Given the description of an element on the screen output the (x, y) to click on. 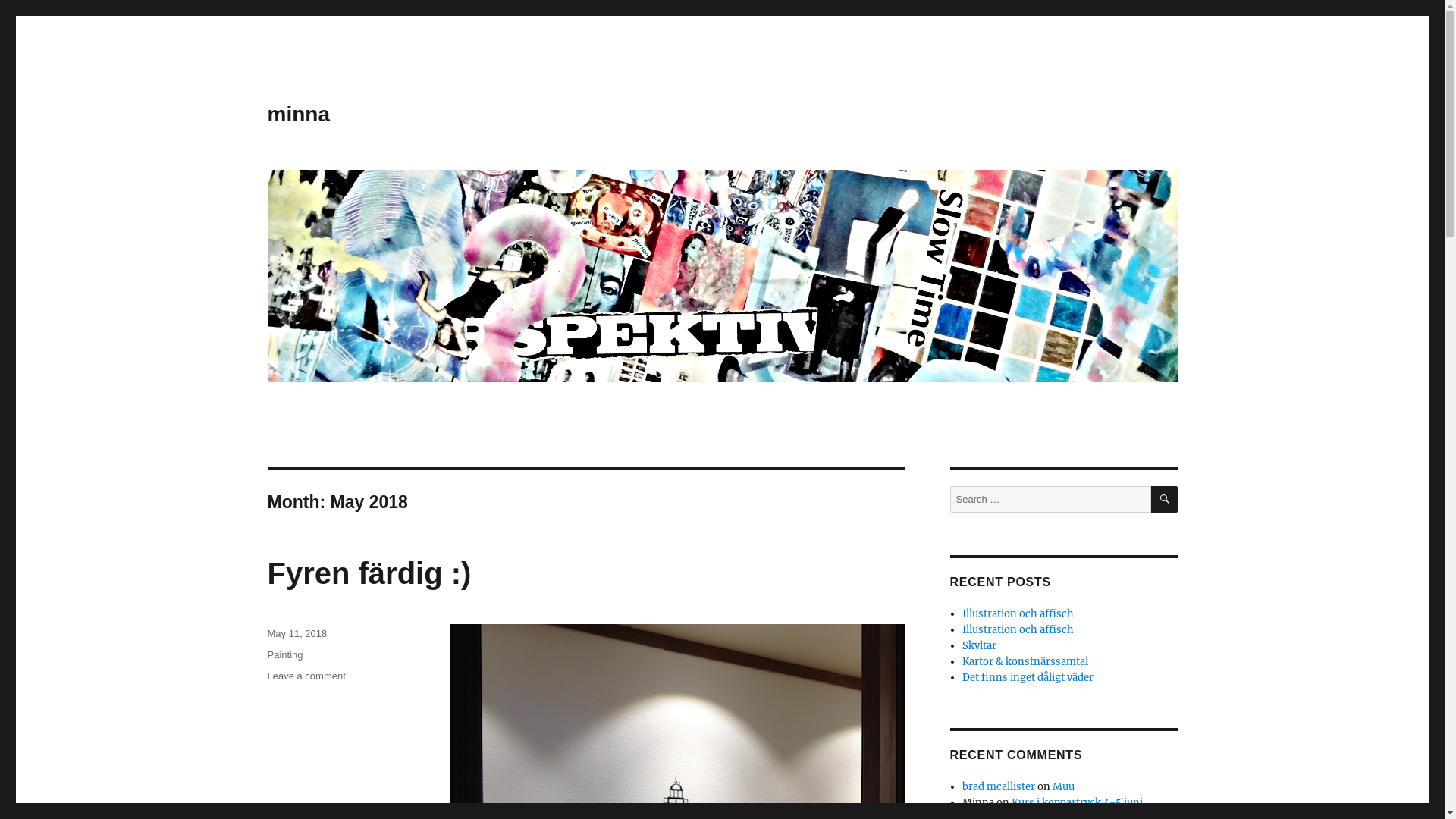
minna Element type: text (297, 113)
May 11, 2018 Element type: text (296, 633)
Kurs i koppartryck 4-5 juni Element type: text (1076, 802)
Illustration och affisch Element type: text (1017, 613)
SEARCH Element type: text (1164, 499)
Illustration och affisch Element type: text (1017, 629)
Skyltar Element type: text (979, 645)
Muu Element type: text (1063, 786)
Painting Element type: text (284, 654)
brad mcallister Element type: text (998, 786)
Search for: Element type: hover (1049, 499)
